Given the description of an element on the screen output the (x, y) to click on. 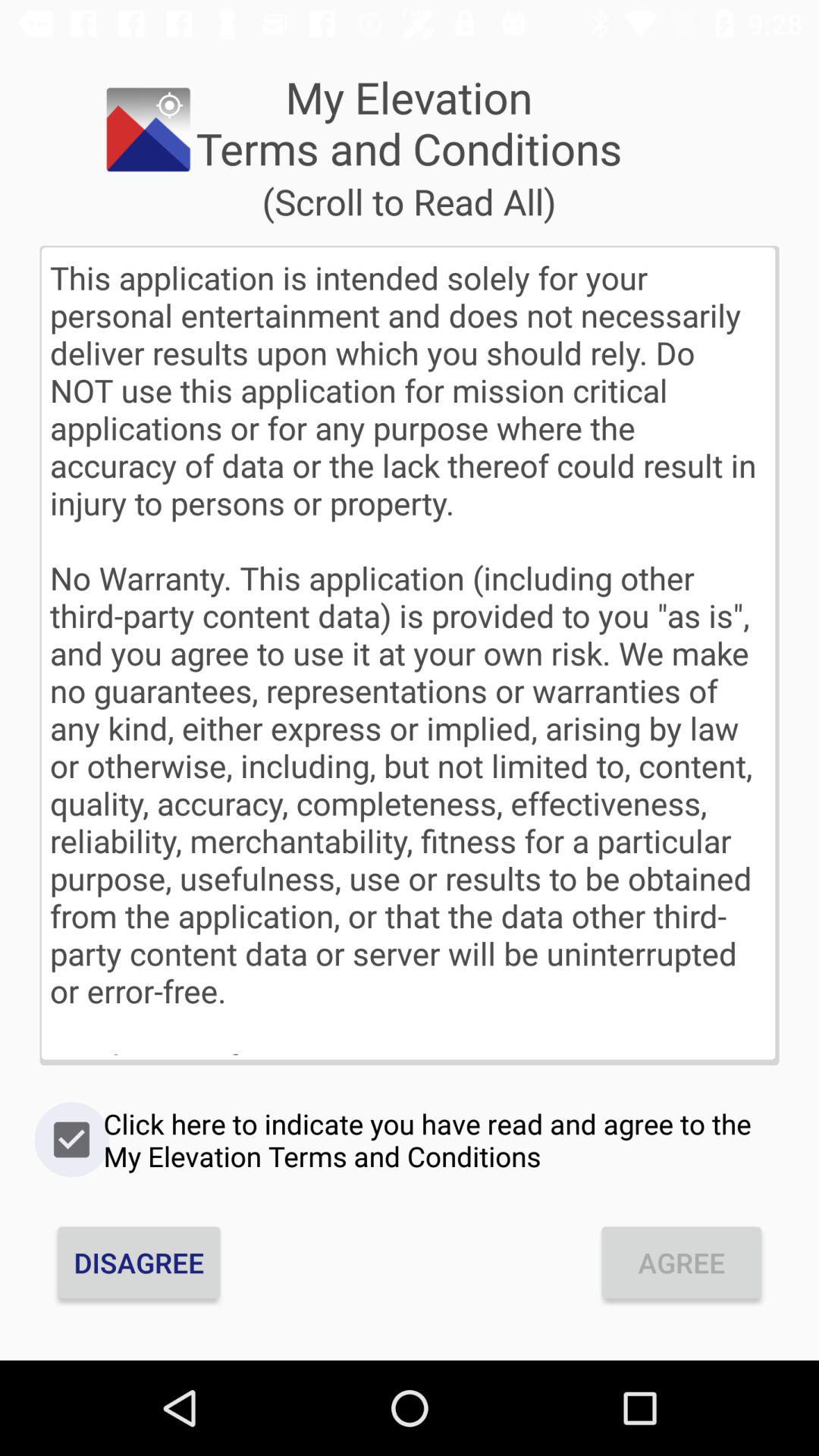
turn on the item to the left of agree (139, 1262)
